Given the description of an element on the screen output the (x, y) to click on. 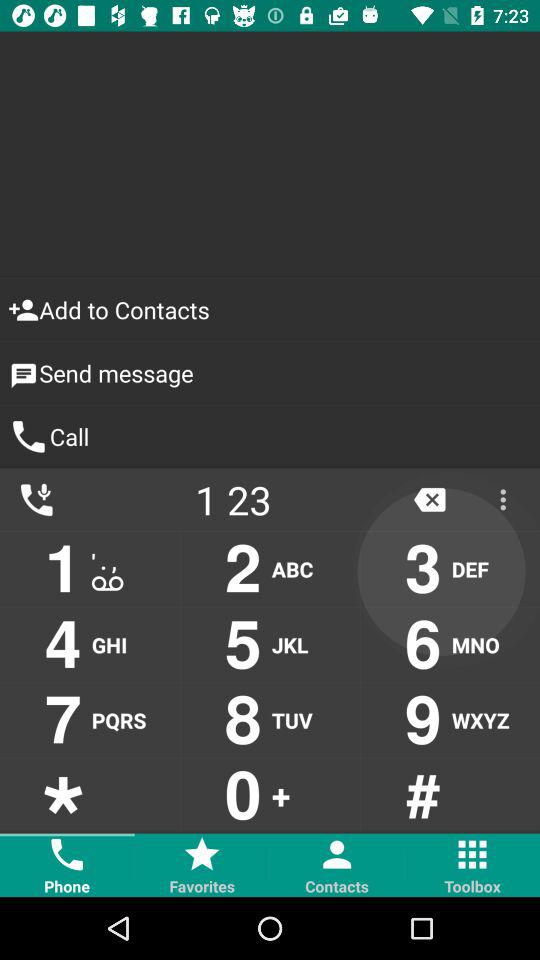
turn on icon above send message item (270, 309)
